Given the description of an element on the screen output the (x, y) to click on. 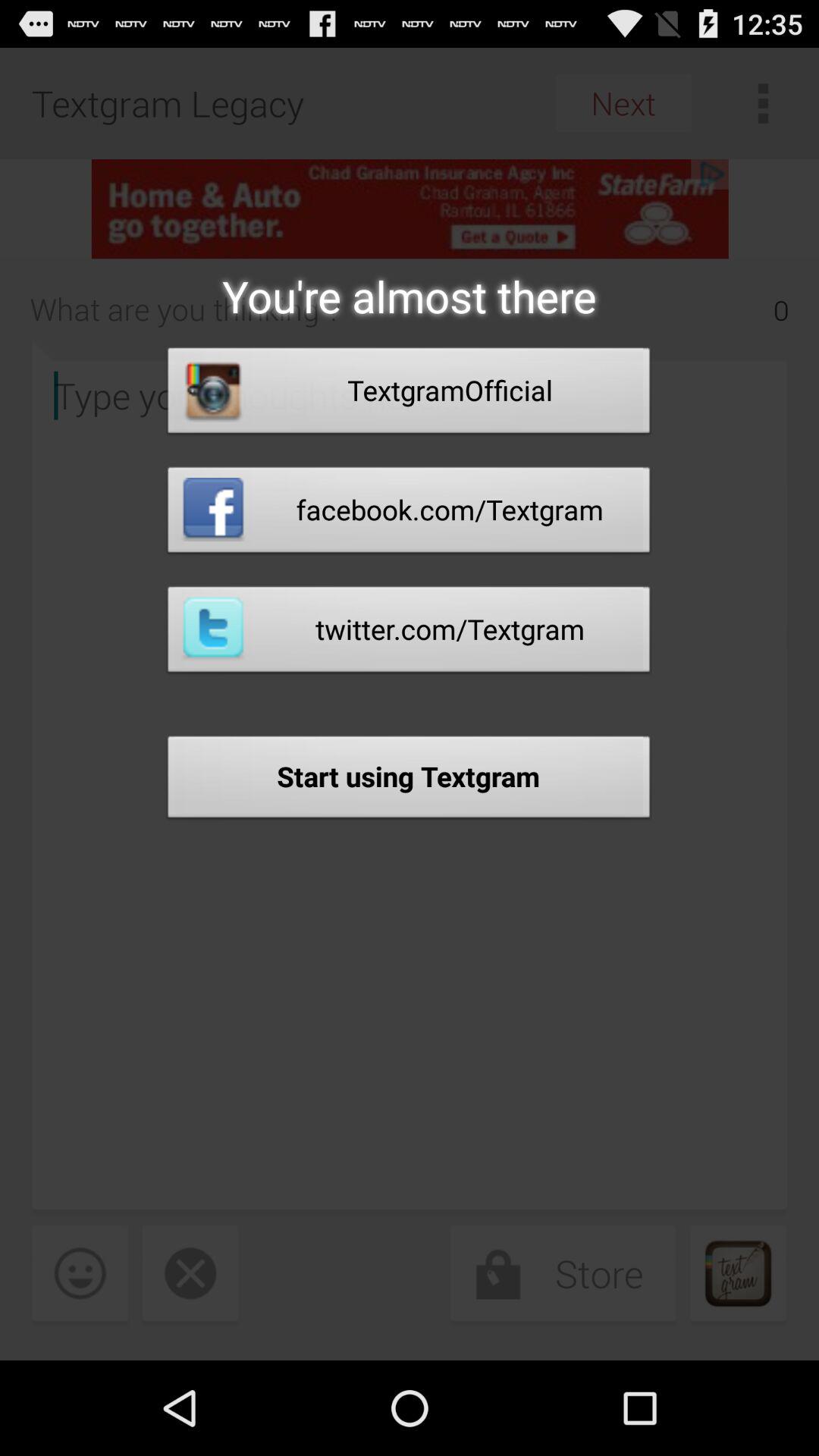
turn on item below the you re almost app (409, 394)
